Given the description of an element on the screen output the (x, y) to click on. 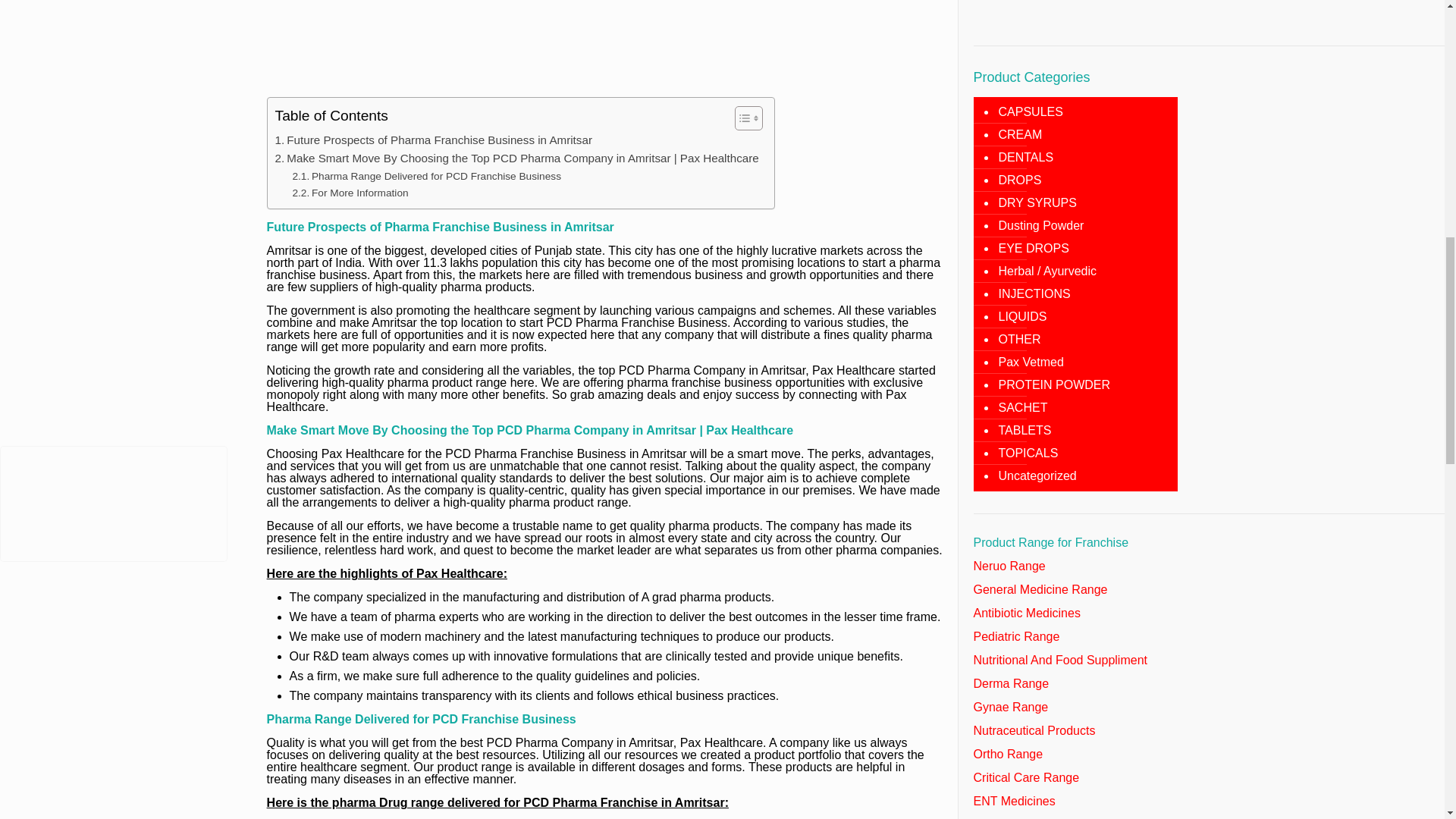
Pharma Range Delivered for PCD Franchise Business (426, 176)
For More Information (349, 193)
Future Prospects of Pharma Franchise Business in Amritsar (433, 140)
